Given the description of an element on the screen output the (x, y) to click on. 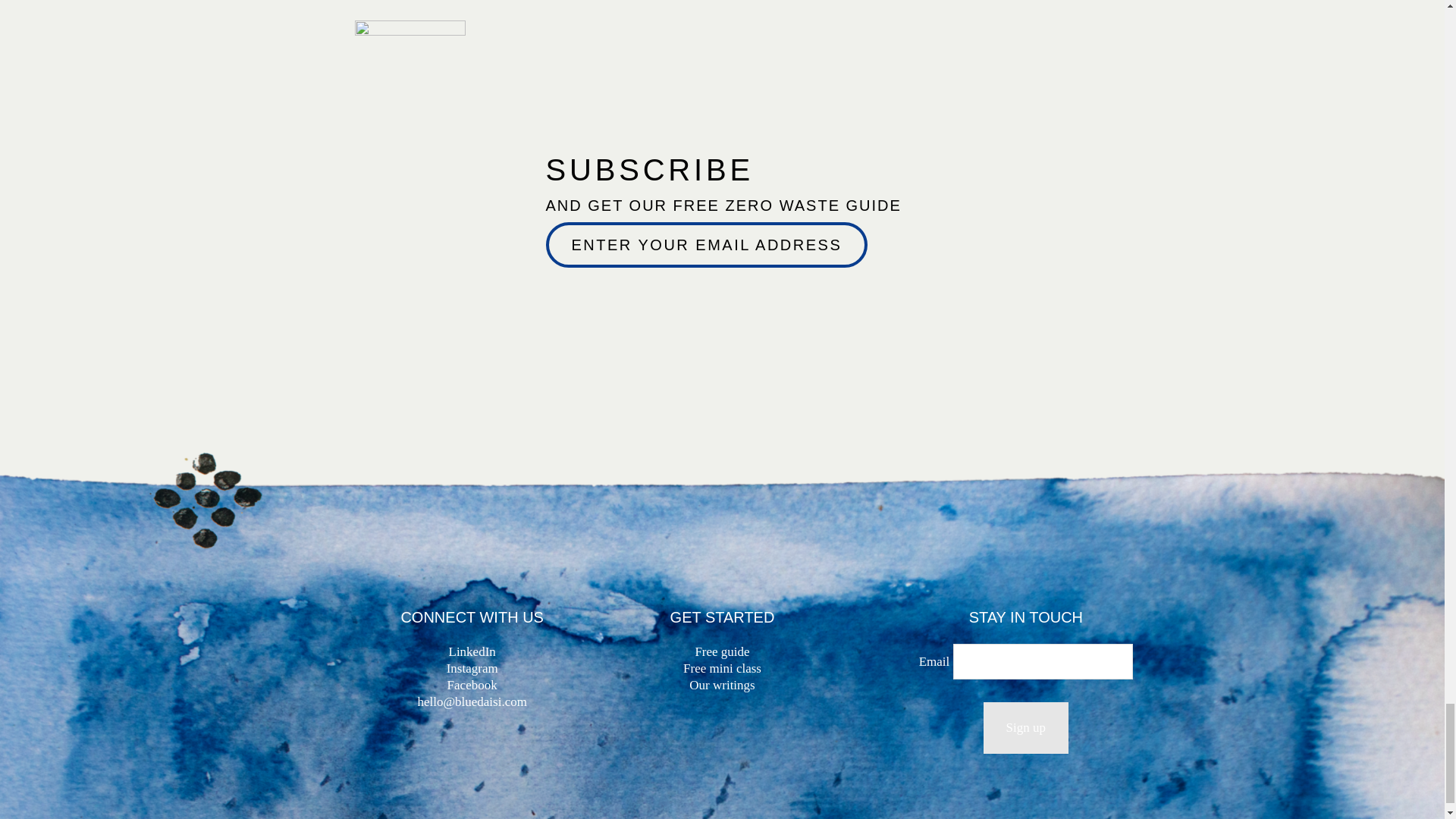
Sign up (1026, 727)
